Given the description of an element on the screen output the (x, y) to click on. 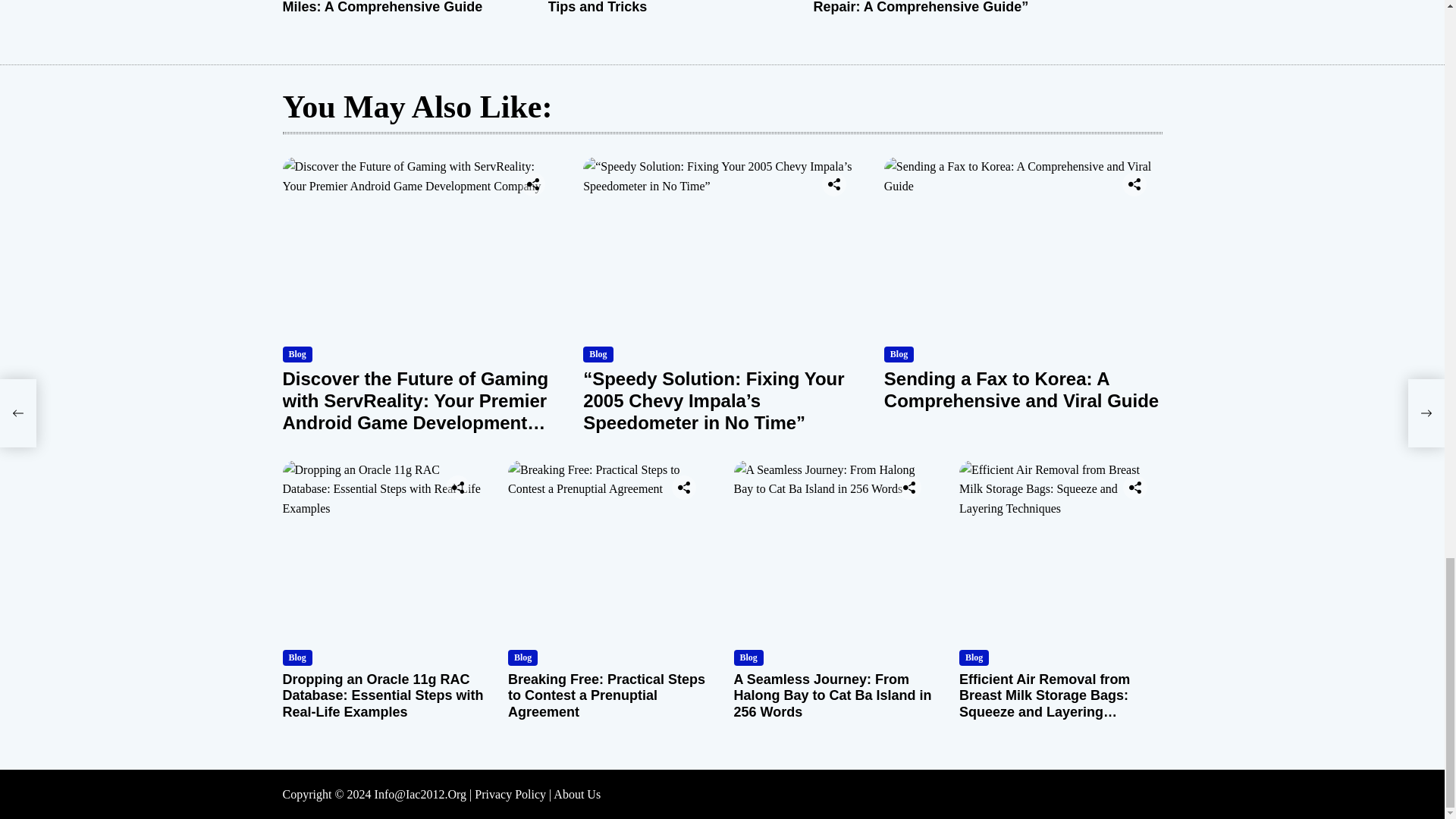
Catching Tuna in the Mediterranean: Tips and Tricks (665, 7)
